Given the description of an element on the screen output the (x, y) to click on. 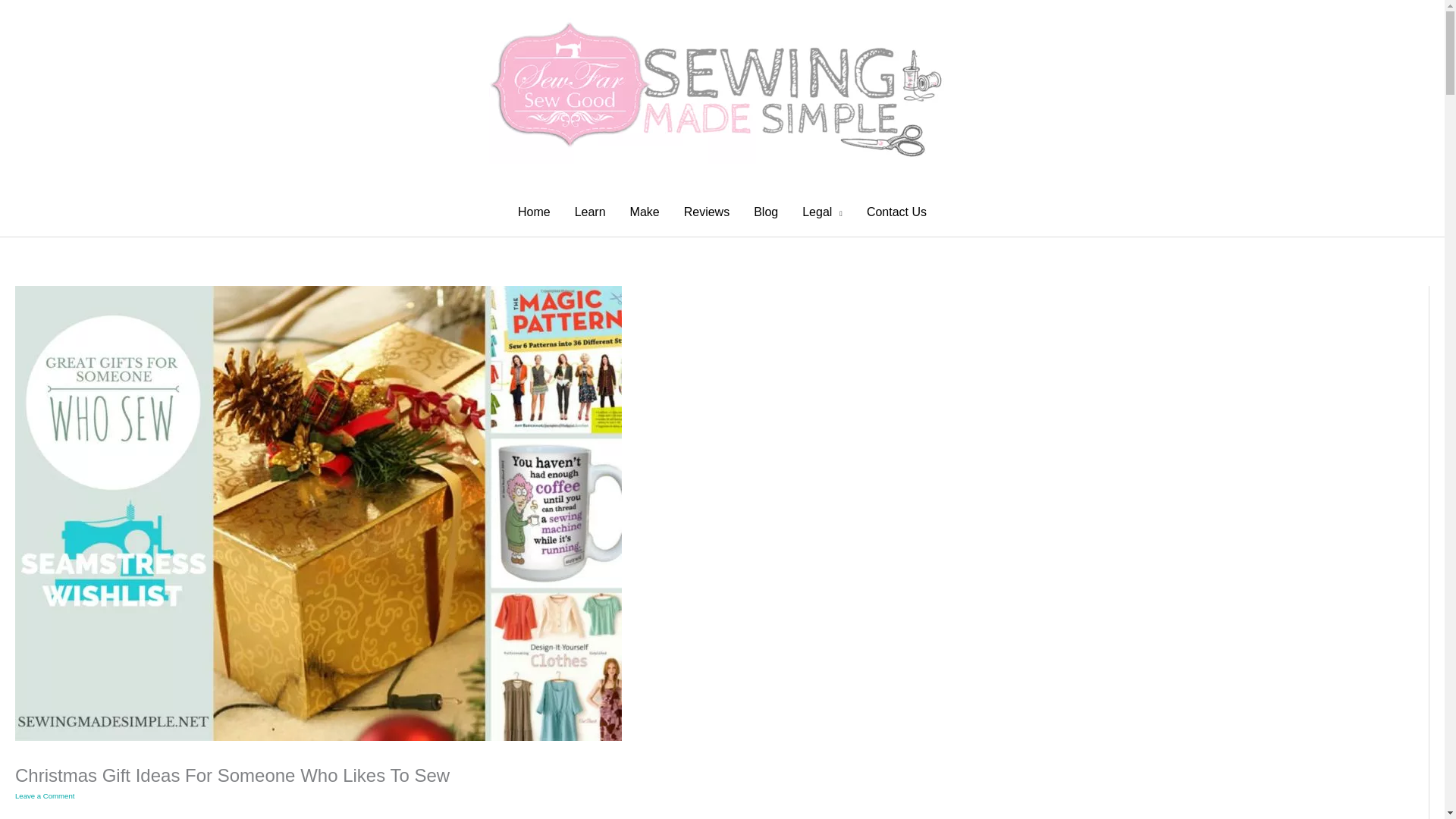
Make (644, 212)
Legal (822, 212)
Blog (765, 212)
Contact Us (896, 212)
Reviews (706, 212)
Leave a Comment (44, 795)
Home (533, 212)
Learn (589, 212)
